Given the description of an element on the screen output the (x, y) to click on. 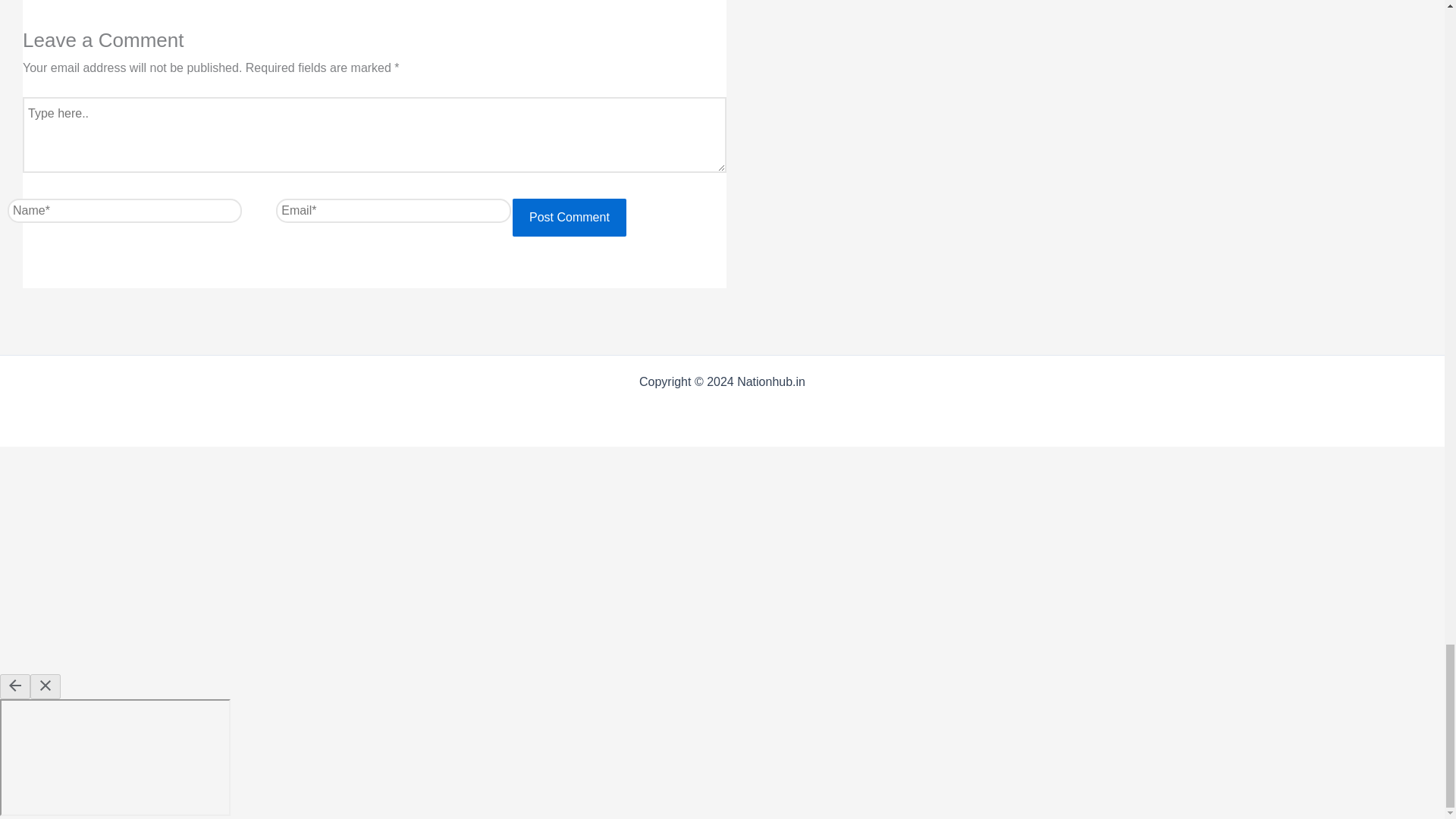
Post Comment (569, 217)
